Given the description of an element on the screen output the (x, y) to click on. 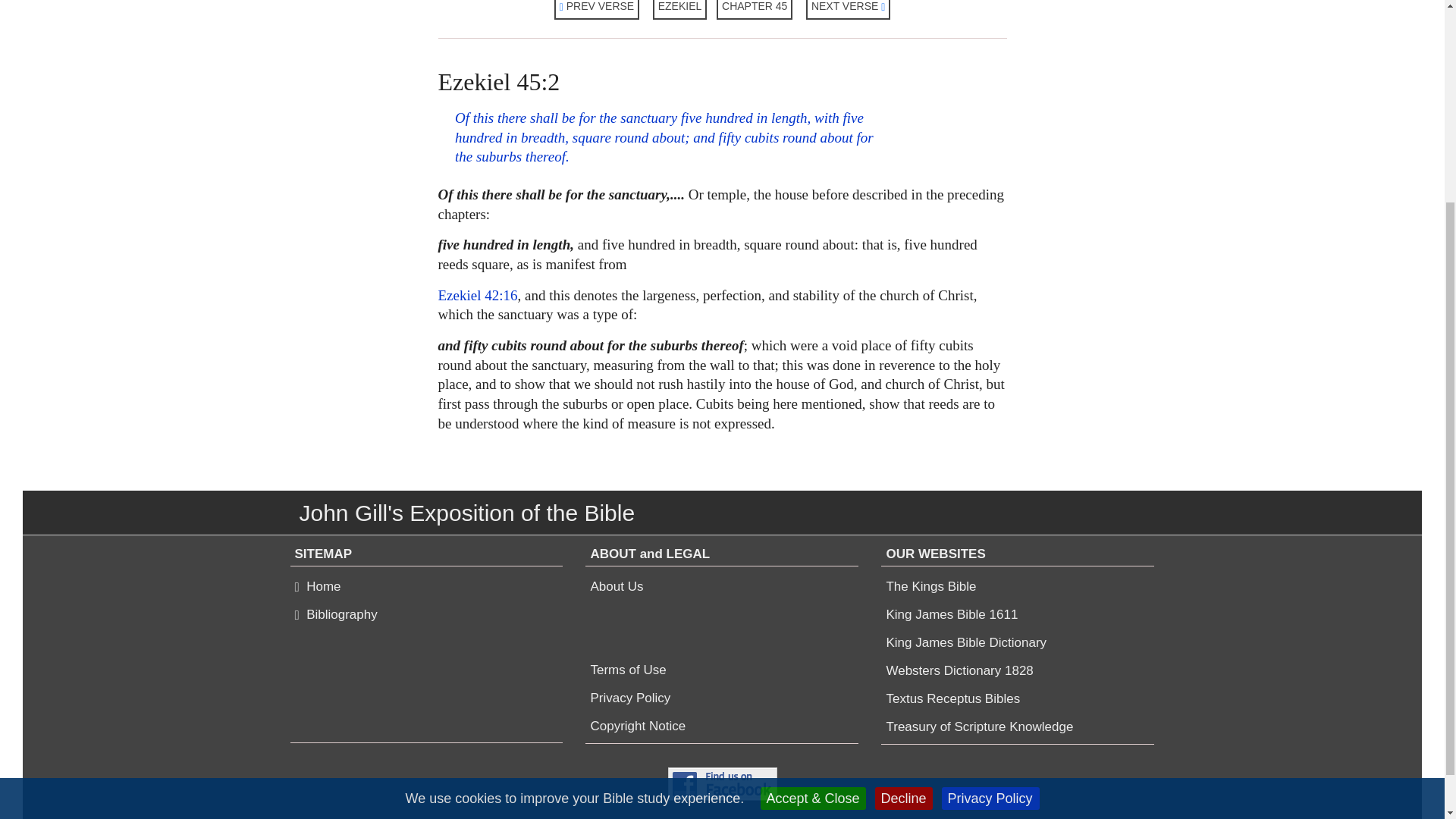
Websters Dictionary 1828 (958, 670)
Copyright Notice (637, 725)
Privacy Policy (990, 524)
King James Bible 1611 (951, 614)
Ezekiel 42:16 (478, 295)
The Kings Bible (929, 586)
Decline (904, 524)
  Bibliography (335, 614)
PREV VERSE (597, 9)
Textus Receptus Bibles (952, 698)
